Given the description of an element on the screen output the (x, y) to click on. 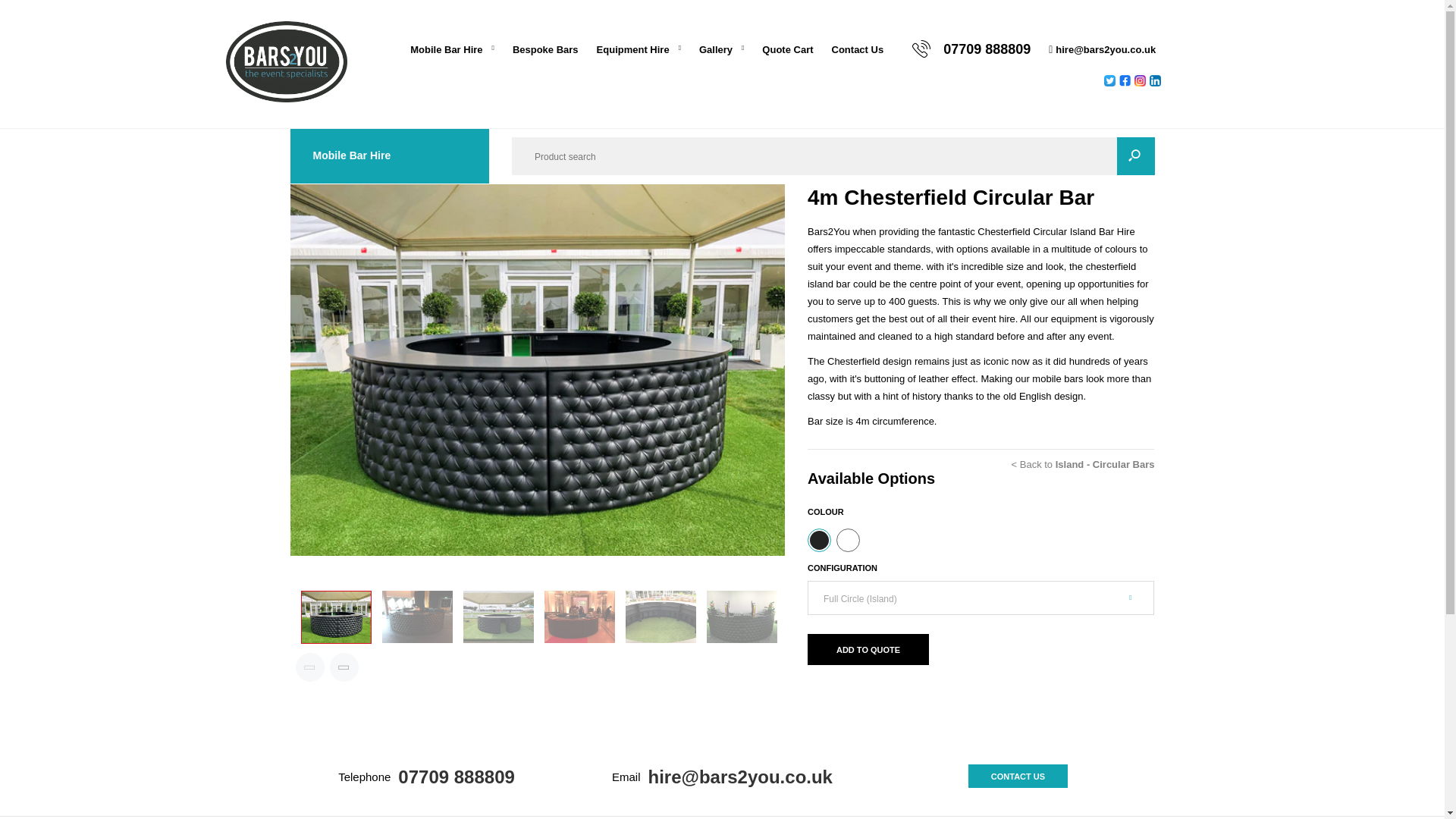
Back to the Island - Circular Bars collection page (1082, 465)
bars2you (286, 98)
bars2you (286, 61)
Black (819, 540)
White (847, 540)
